Given the description of an element on the screen output the (x, y) to click on. 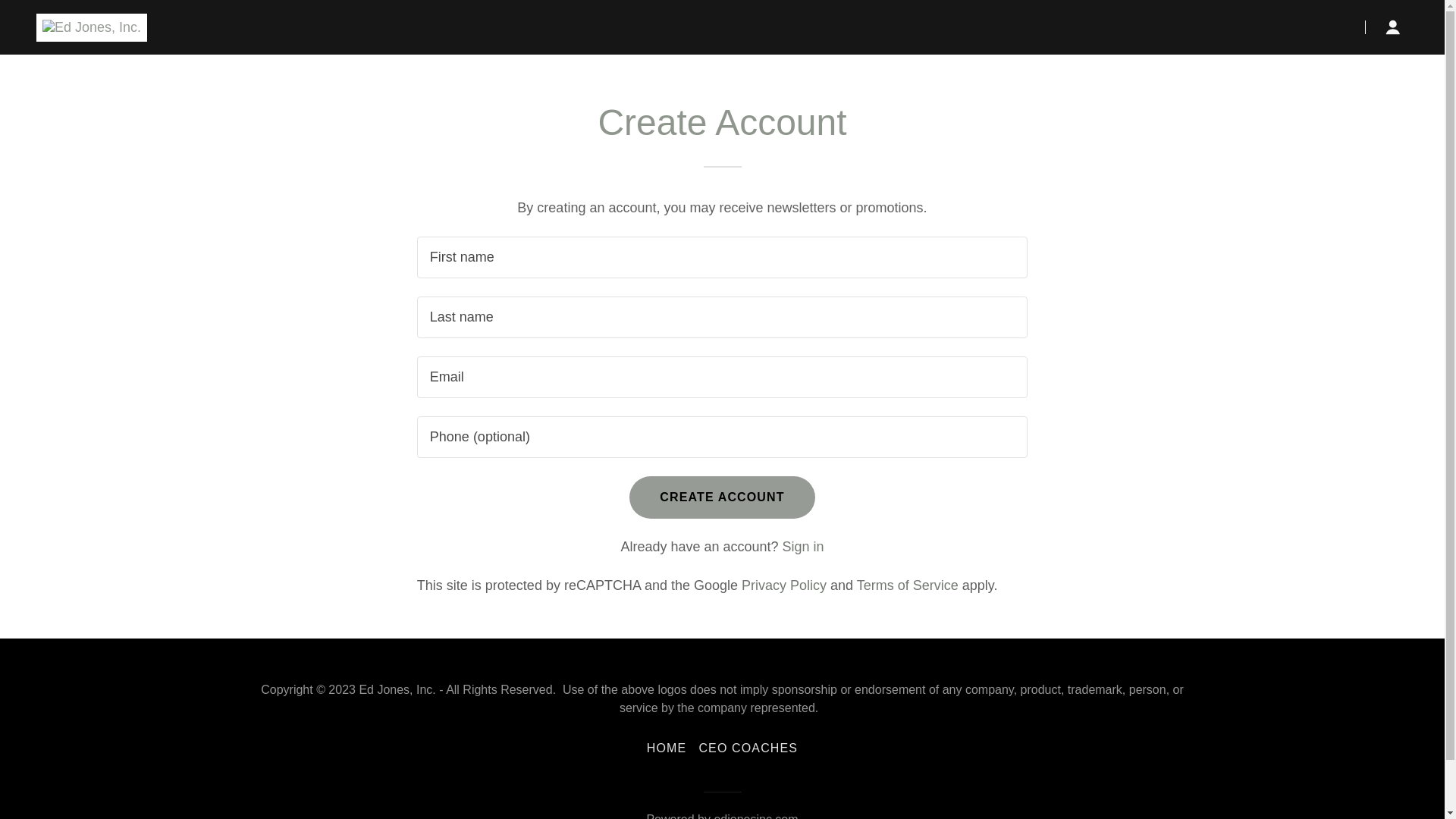
CEO COACHES (748, 748)
Terms of Service (907, 585)
Sign in (803, 546)
Privacy Policy (784, 585)
Ed Jones, Inc. (91, 26)
CREATE ACCOUNT (720, 496)
HOME (666, 748)
